Given the description of an element on the screen output the (x, y) to click on. 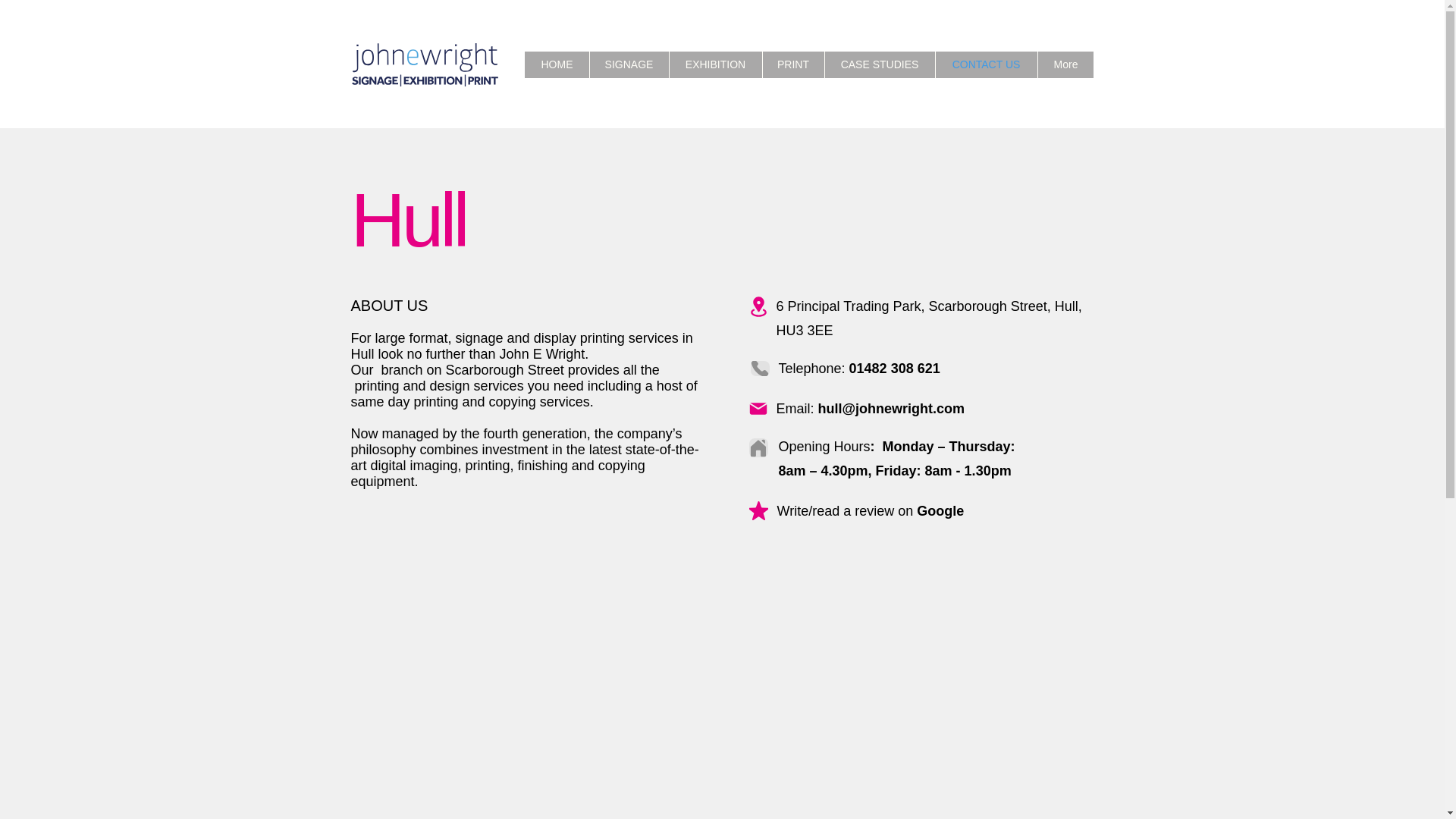
PRINT (793, 64)
CASE STUDIES (879, 64)
HOME (556, 64)
CONTACT US (986, 64)
SIGNAGE (628, 64)
EXHIBITION (714, 64)
